Given the description of an element on the screen output the (x, y) to click on. 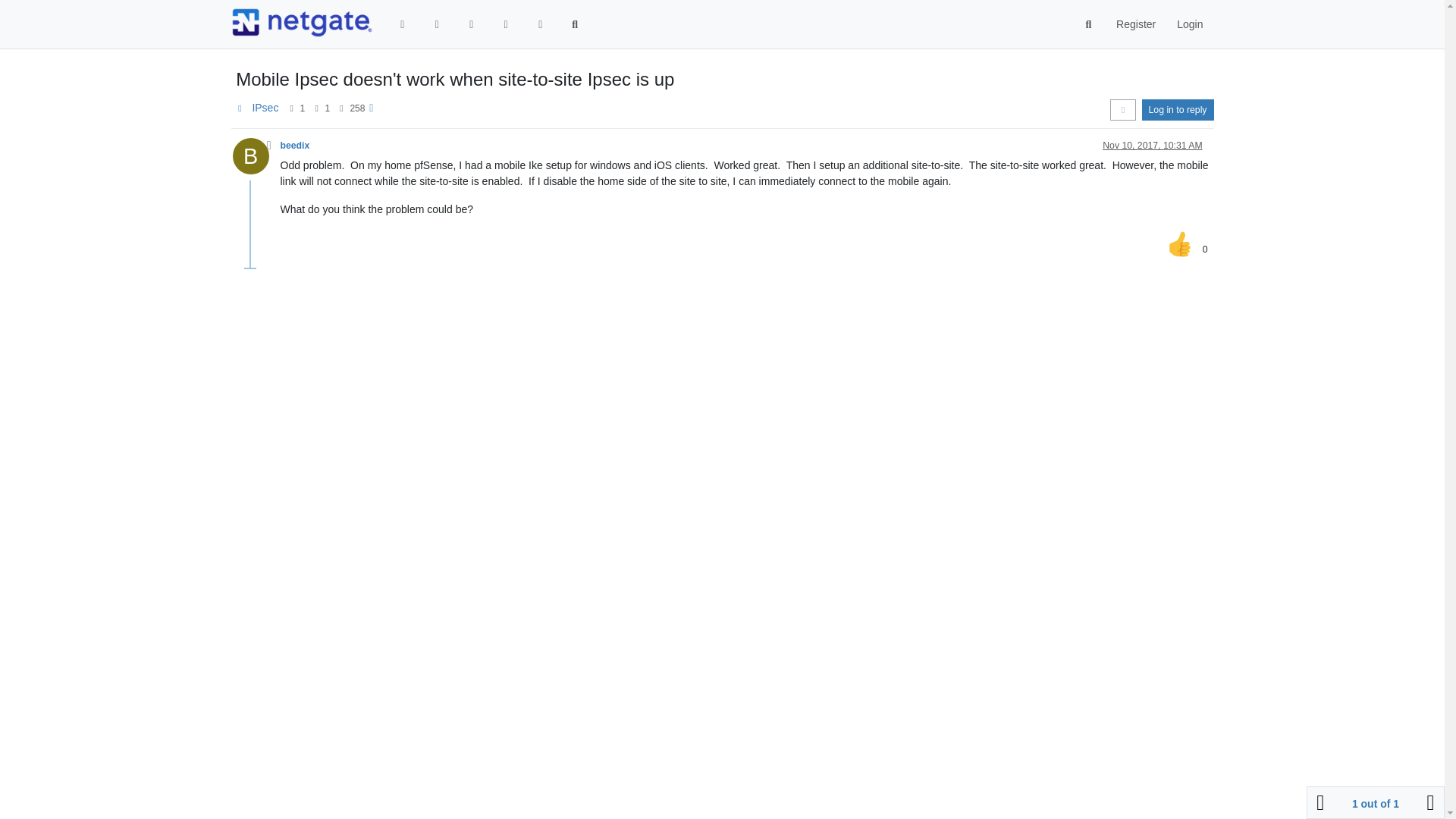
Popular (504, 24)
Recent (437, 24)
Categories (402, 24)
Register (1135, 24)
B (255, 159)
Tags (471, 24)
beedix (295, 145)
Users (539, 24)
Search (1088, 24)
Nov 10, 2017, 10:31 AM (1152, 145)
Login (1189, 24)
Search (574, 24)
Log in to reply (1177, 109)
IPsec (264, 107)
